Given the description of an element on the screen output the (x, y) to click on. 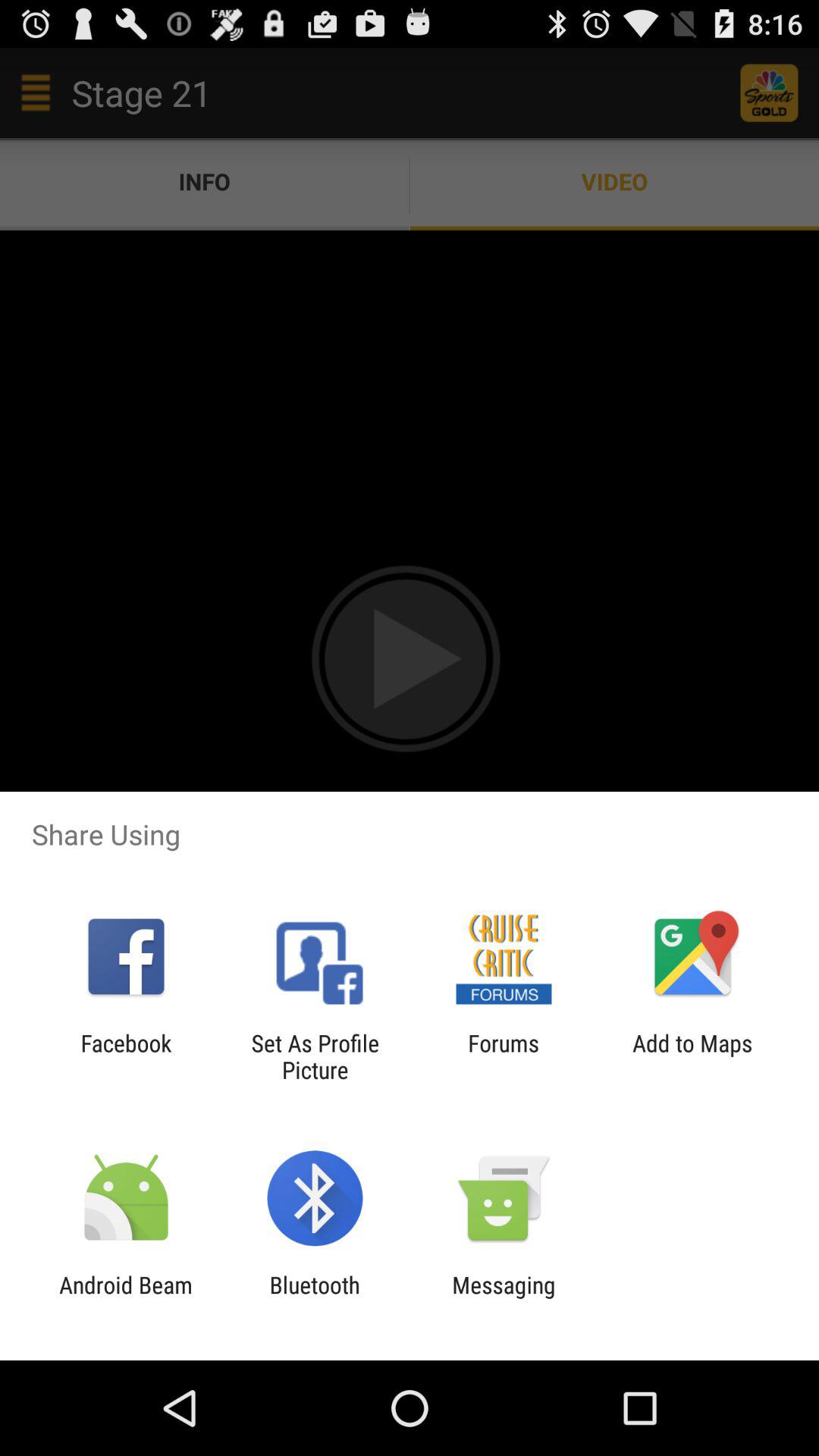
swipe until bluetooth (314, 1298)
